Given the description of an element on the screen output the (x, y) to click on. 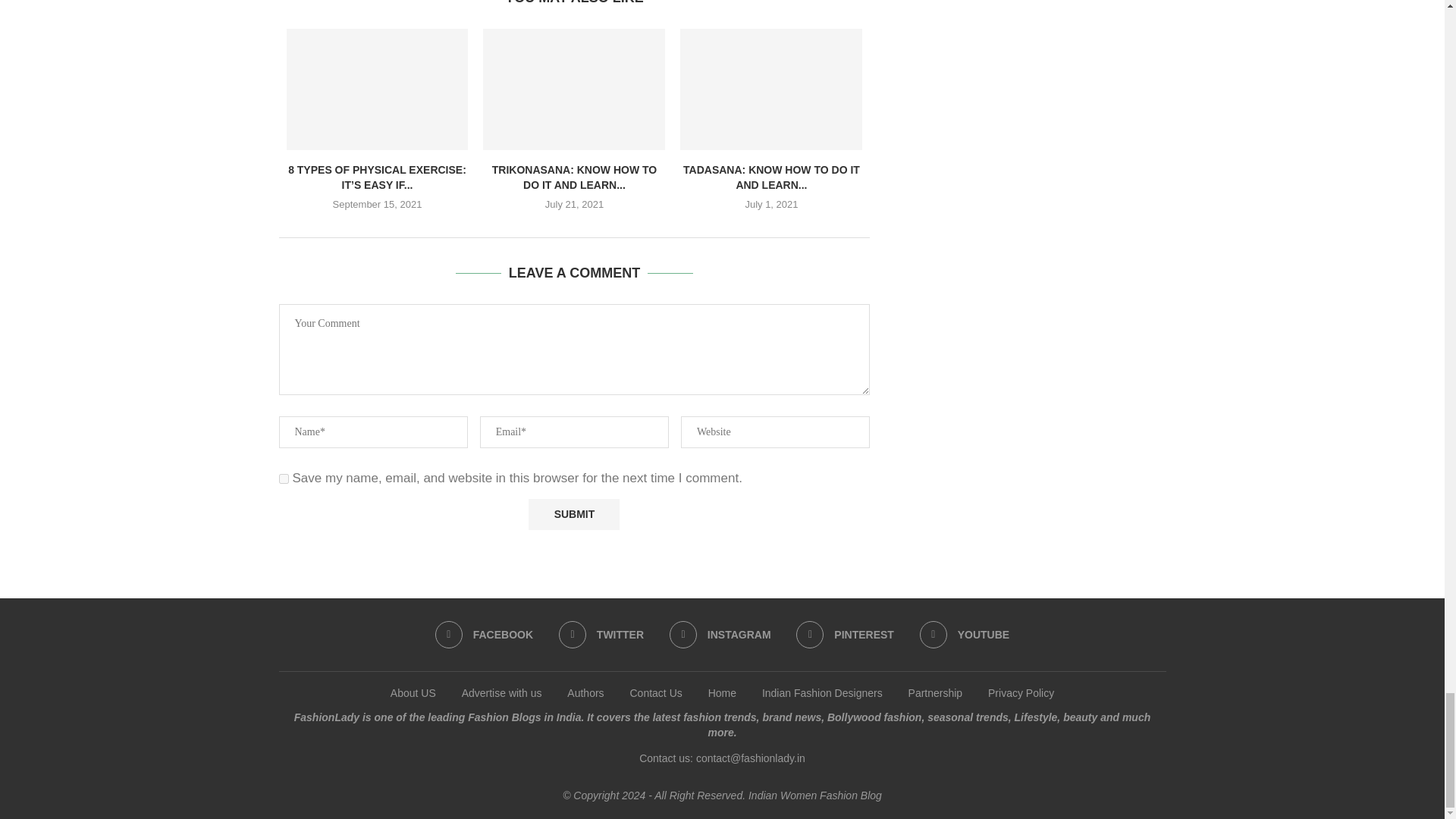
yes (283, 479)
Submit (574, 513)
